Given the description of an element on the screen output the (x, y) to click on. 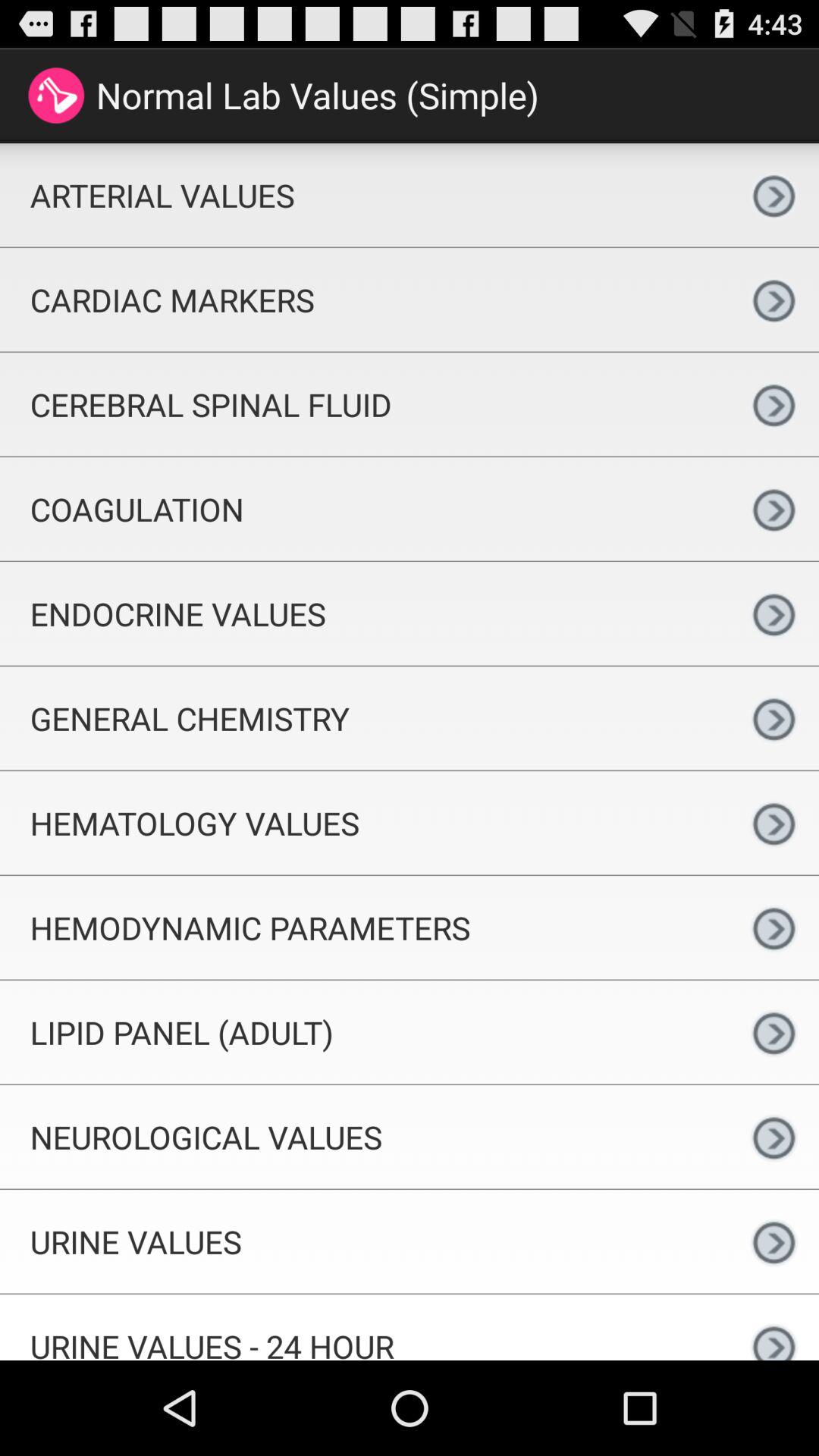
flip to the lipid panel (adult) (364, 1032)
